Given the description of an element on the screen output the (x, y) to click on. 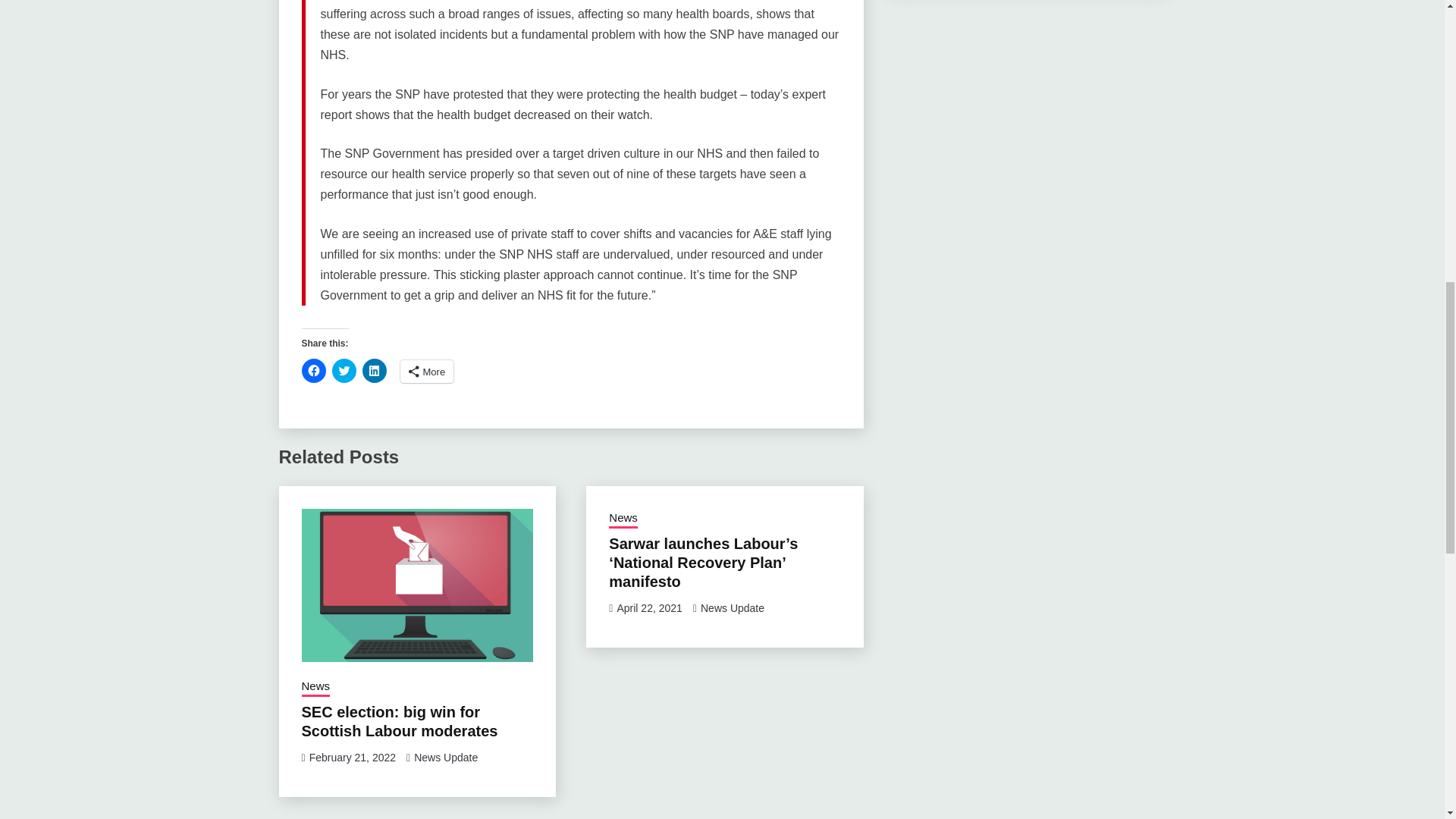
Click to share on Facebook (313, 370)
Click to share on LinkedIn (374, 370)
More (427, 371)
Click to share on Twitter (343, 370)
News Update (732, 607)
SEC election: big win for Scottish Labour moderates (399, 721)
News (622, 519)
News (315, 687)
February 21, 2022 (352, 757)
April 22, 2021 (648, 607)
